Given the description of an element on the screen output the (x, y) to click on. 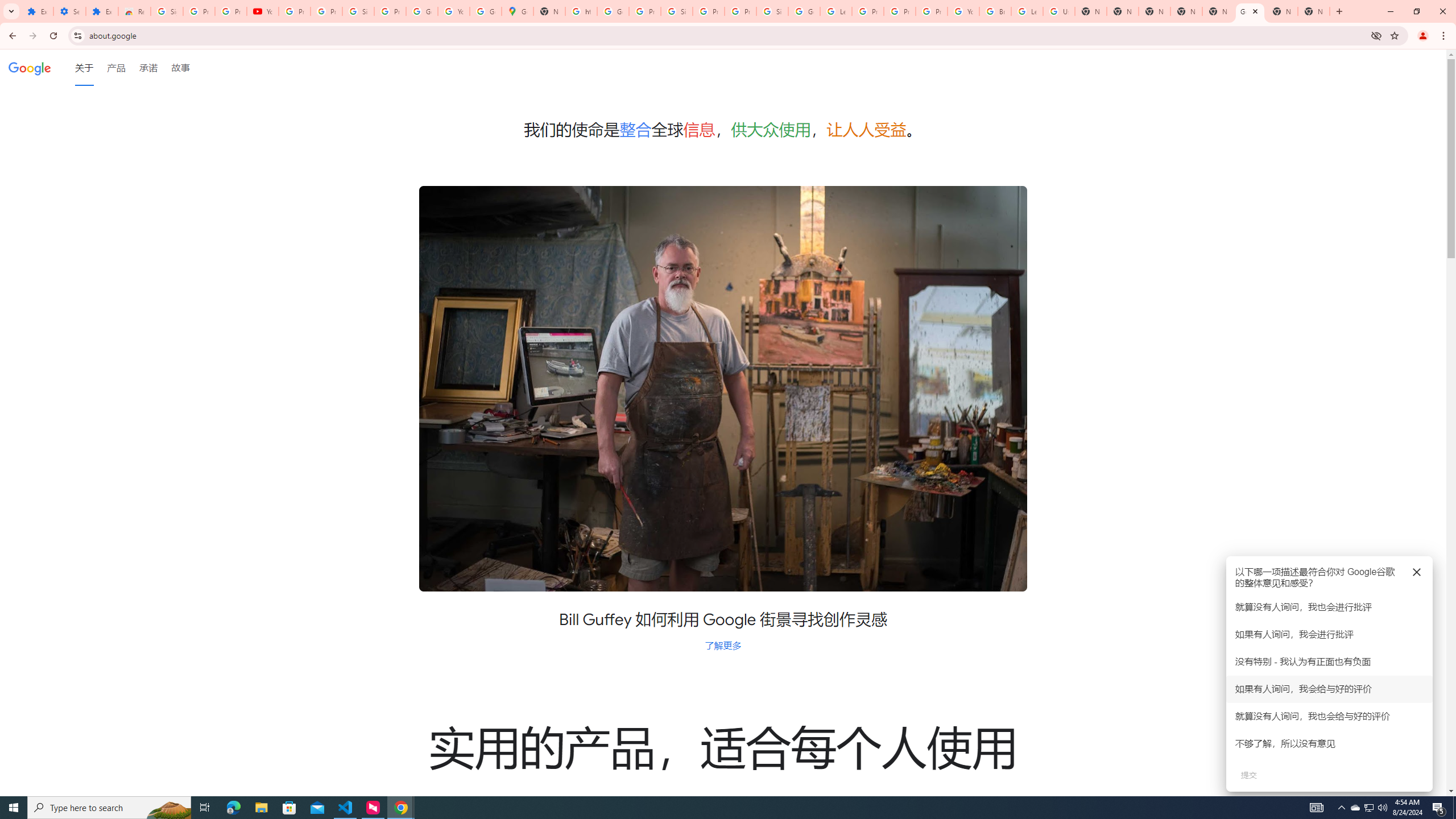
Sign in - Google Accounts (772, 11)
YouTube (262, 11)
Sign in - Google Accounts (358, 11)
Google (29, 67)
Browse Chrome as a guest - Computer - Google Chrome Help (995, 11)
